Given the description of an element on the screen output the (x, y) to click on. 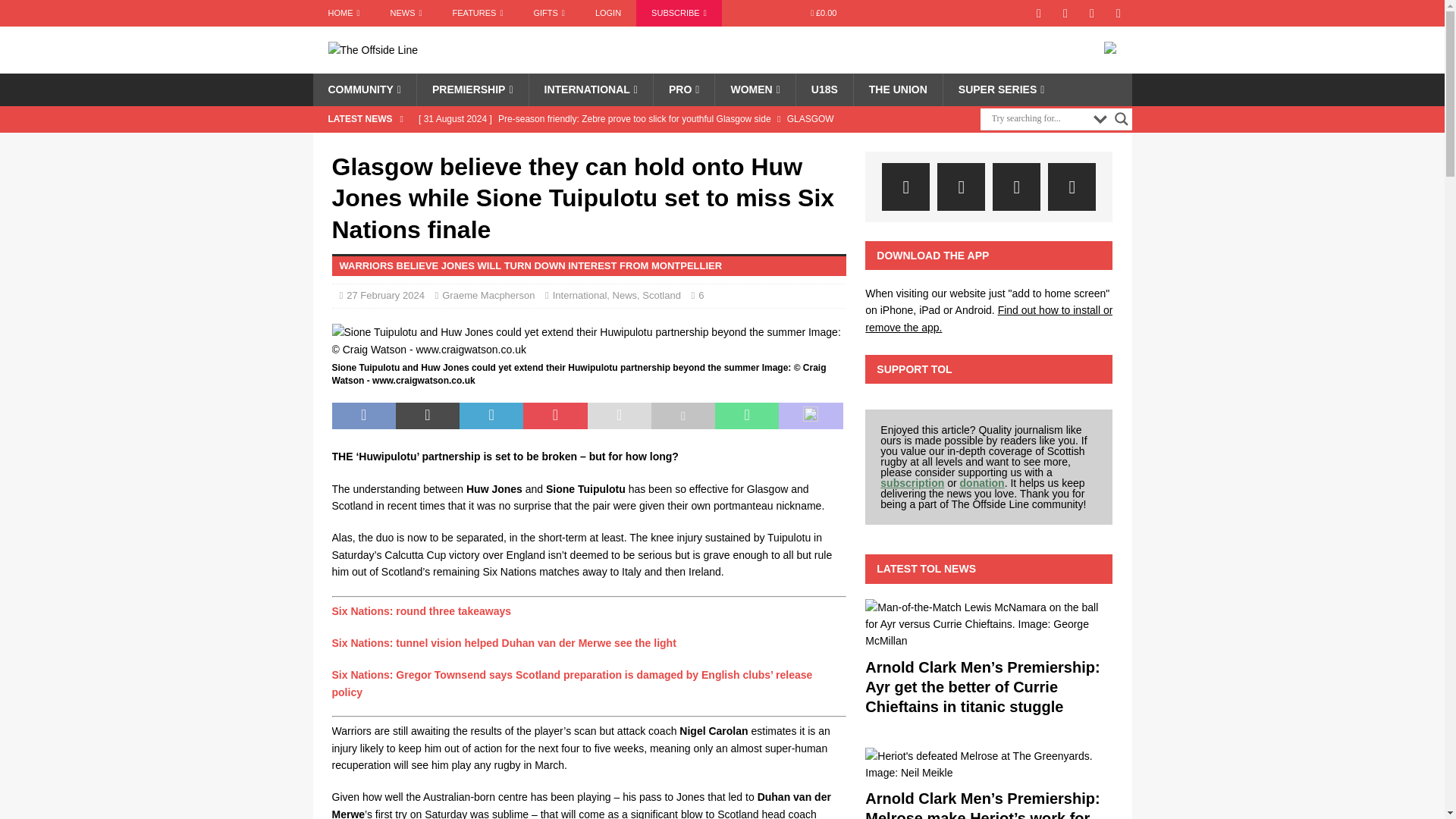
Scottish rugby news (406, 13)
Scottish Rugby news coverage (343, 13)
Community rugby in Scotland (363, 89)
PREMIERSHIP (472, 89)
GIFTS (548, 13)
FEATURES (478, 13)
Start shopping (822, 13)
Rugby Gifts (548, 13)
Help us keep it covered this season (679, 13)
COMMUNITY (363, 89)
